Given the description of an element on the screen output the (x, y) to click on. 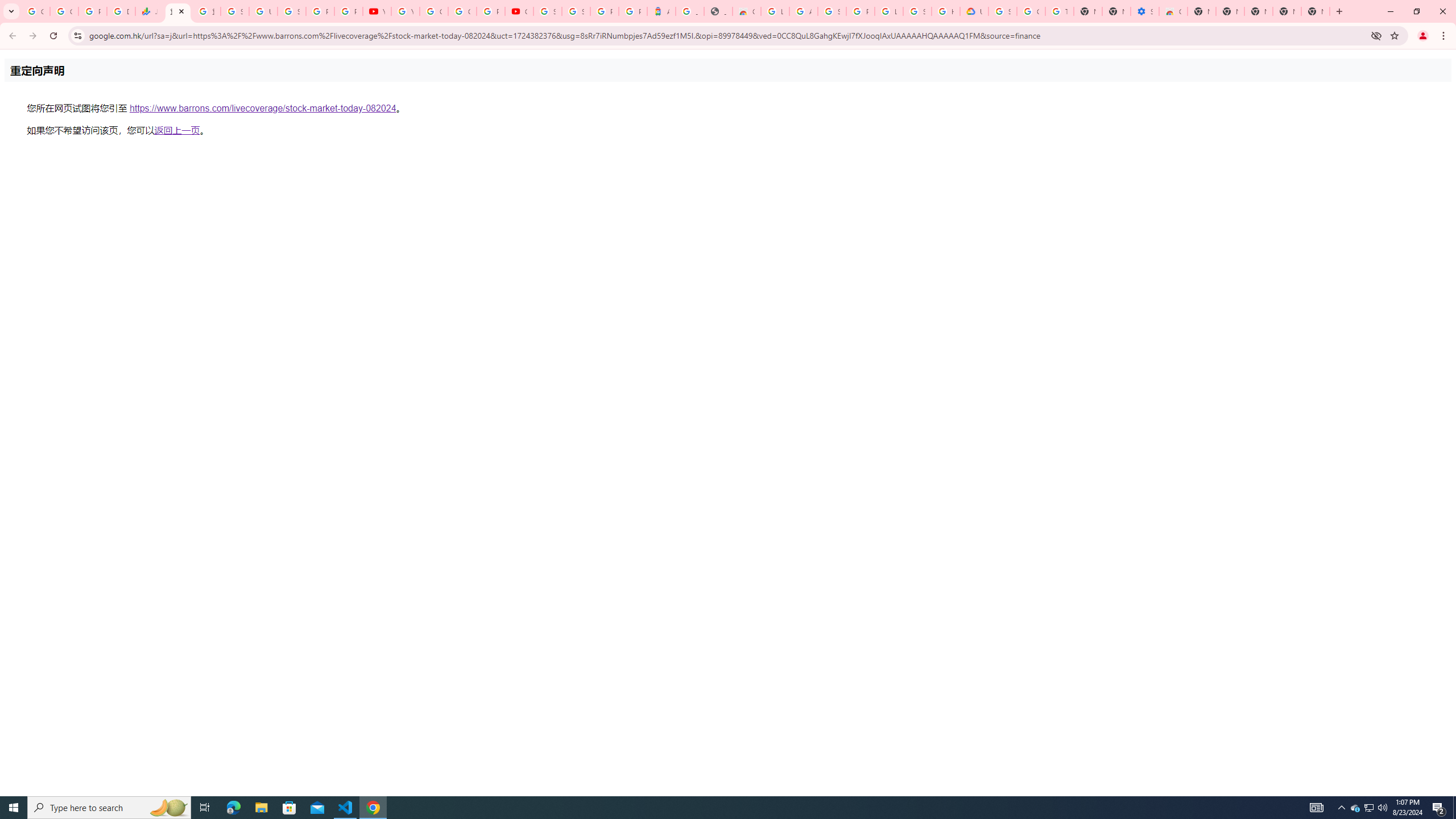
Create your Google Account (461, 11)
Settings - Accessibility (1144, 11)
Sign in - Google Accounts (575, 11)
Google Workspace Admin Community (35, 11)
